Given the description of an element on the screen output the (x, y) to click on. 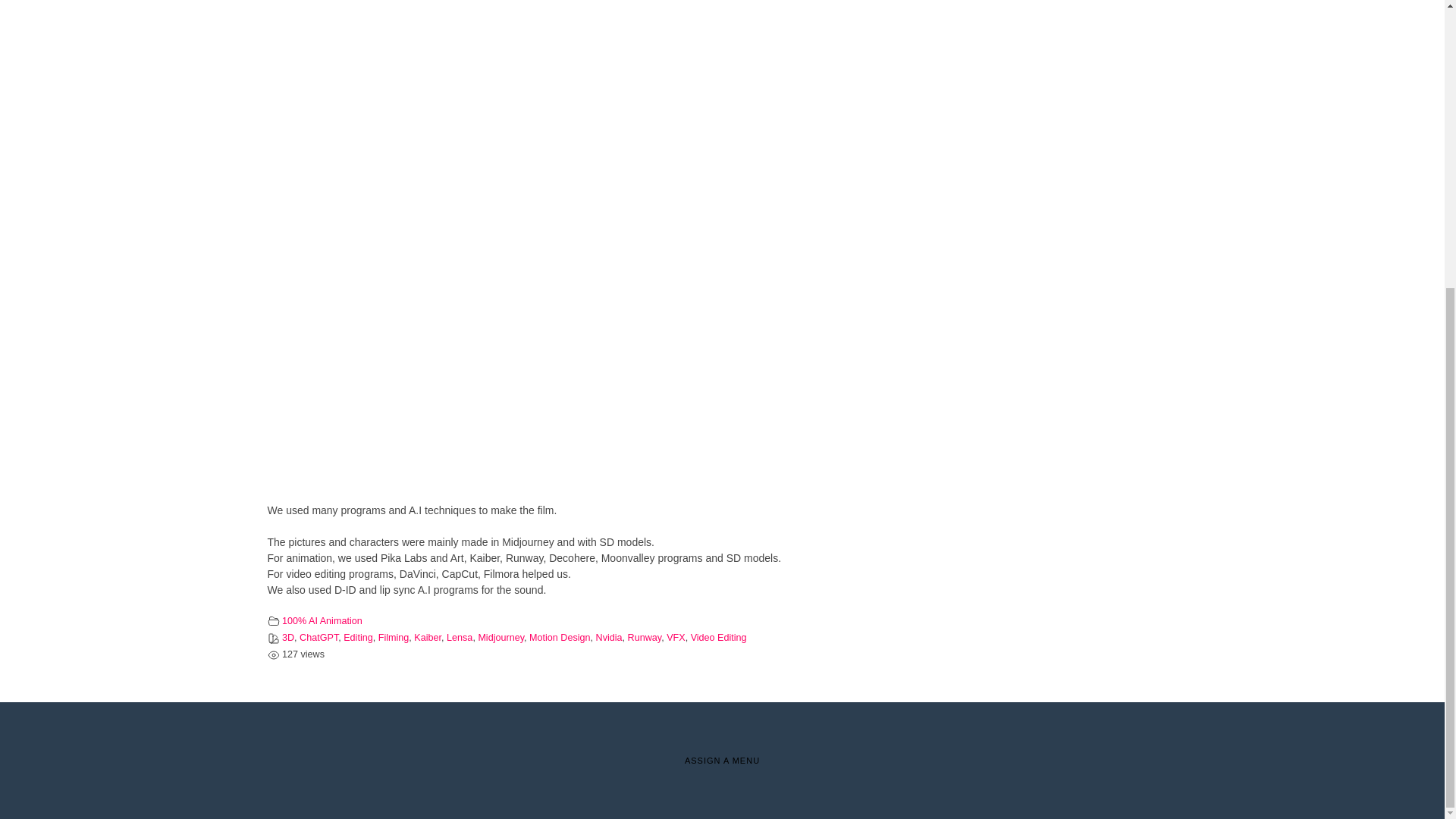
ASSIGN A MENU (722, 759)
Video Editing (718, 637)
Midjourney (500, 637)
Motion Design (560, 637)
Runway (644, 637)
Lensa (458, 637)
Nvidia (609, 637)
Filming (393, 637)
ChatGPT (318, 637)
Kaiber (427, 637)
Editing (357, 637)
VFX (675, 637)
3D (288, 637)
